Given the description of an element on the screen output the (x, y) to click on. 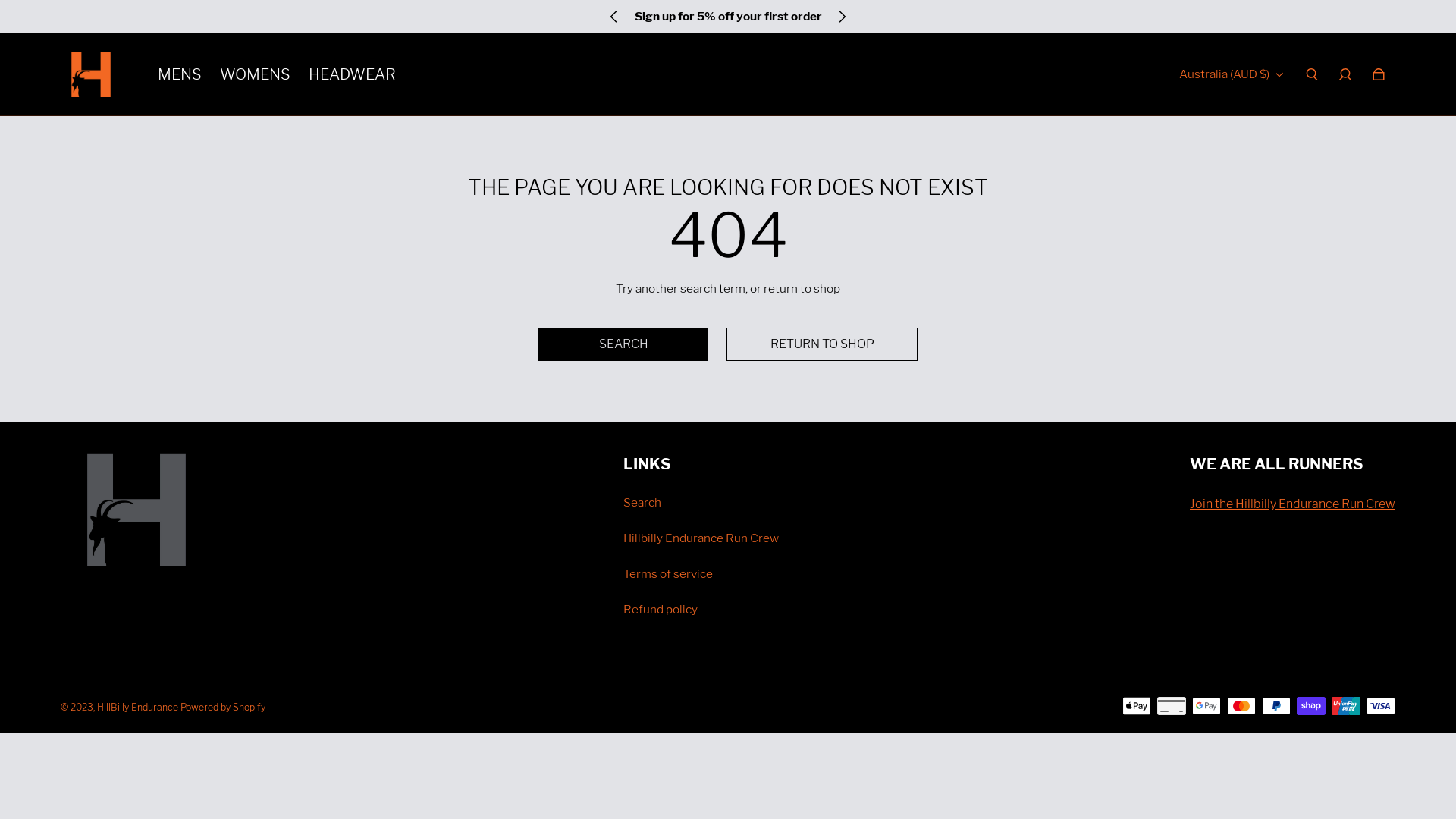
Join the Hillbilly Endurance Run Crew Element type: text (1292, 503)
Australia (AUD $) Element type: text (1231, 73)
Hillbilly Endurance Run Crew Element type: text (700, 537)
WOMENS Element type: text (254, 73)
Terms of service Element type: text (667, 573)
Powered by Shopify Element type: text (222, 707)
RETURN TO SHOP Element type: text (821, 343)
Refund policy Element type: text (660, 609)
HEADWEAR Element type: text (351, 73)
Search Element type: text (642, 502)
MENS Element type: text (179, 73)
SEARCH Element type: text (623, 343)
HillBilly Endurance Element type: text (137, 707)
